Given the description of an element on the screen output the (x, y) to click on. 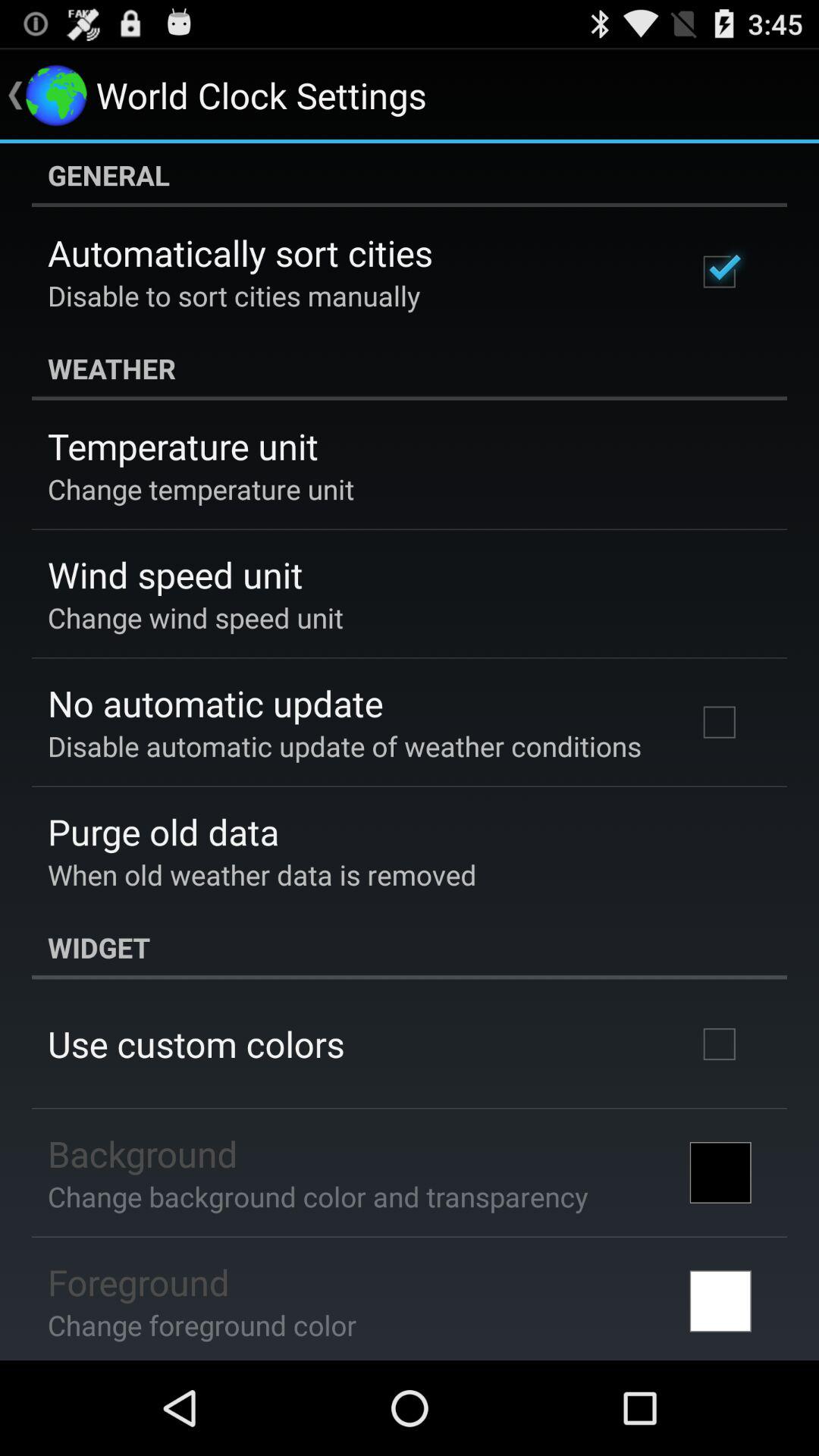
tap the app above the automatically sort cities item (409, 175)
